Given the description of an element on the screen output the (x, y) to click on. 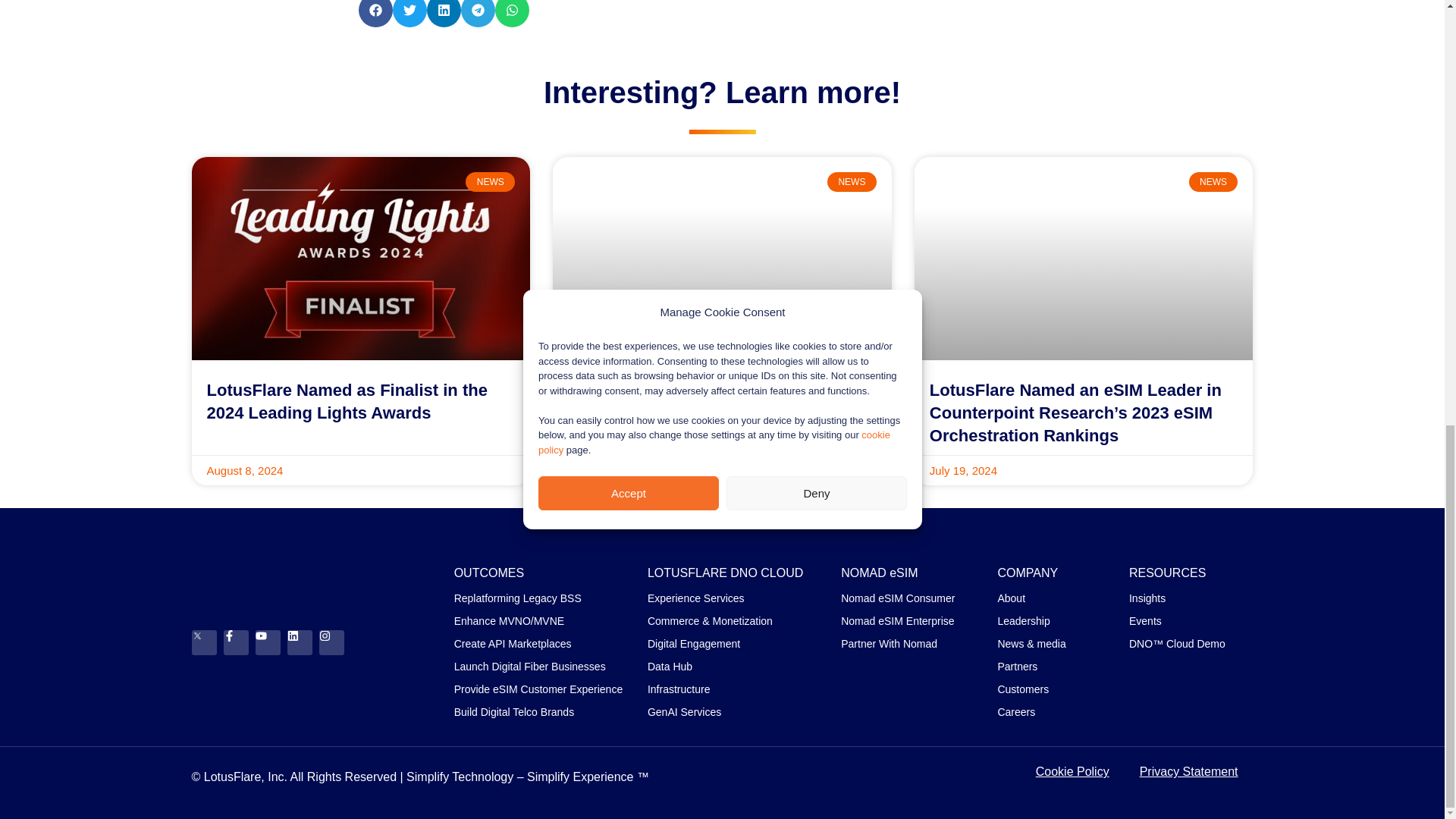
LotusFlare - Logo White2 (304, 572)
Cellphone In Front Of Fluorescent Lighting (719, 257)
